Given the description of an element on the screen output the (x, y) to click on. 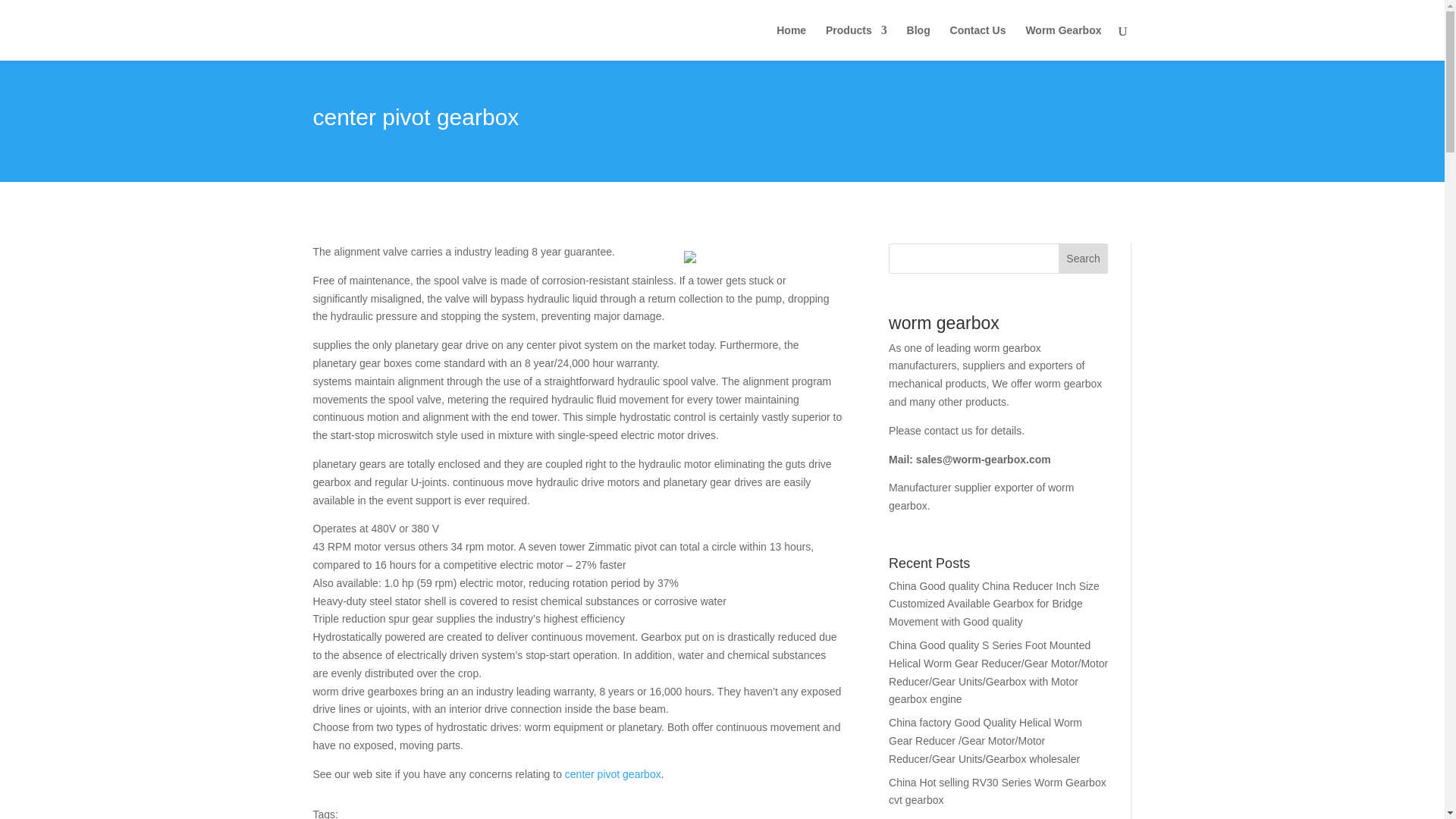
Worm Gearbox (1062, 42)
center pivot gearbox (612, 774)
Products (855, 42)
China Hot selling RV30 Series Worm Gearbox cvt gearbox (997, 791)
Search (1083, 258)
Search (1083, 258)
Contact Us (978, 42)
